Given the description of an element on the screen output the (x, y) to click on. 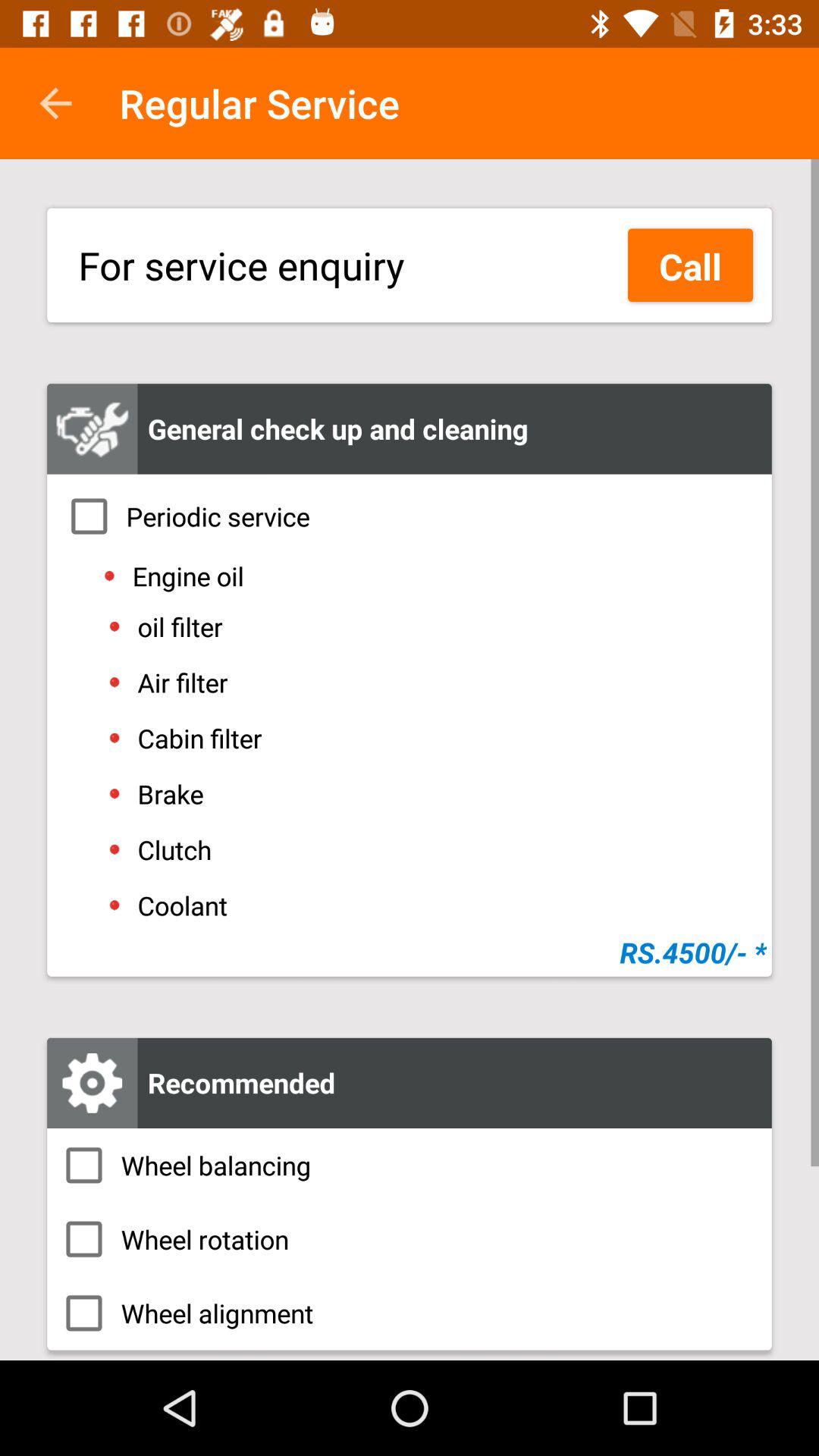
open the wheel balancing icon (409, 1165)
